Given the description of an element on the screen output the (x, y) to click on. 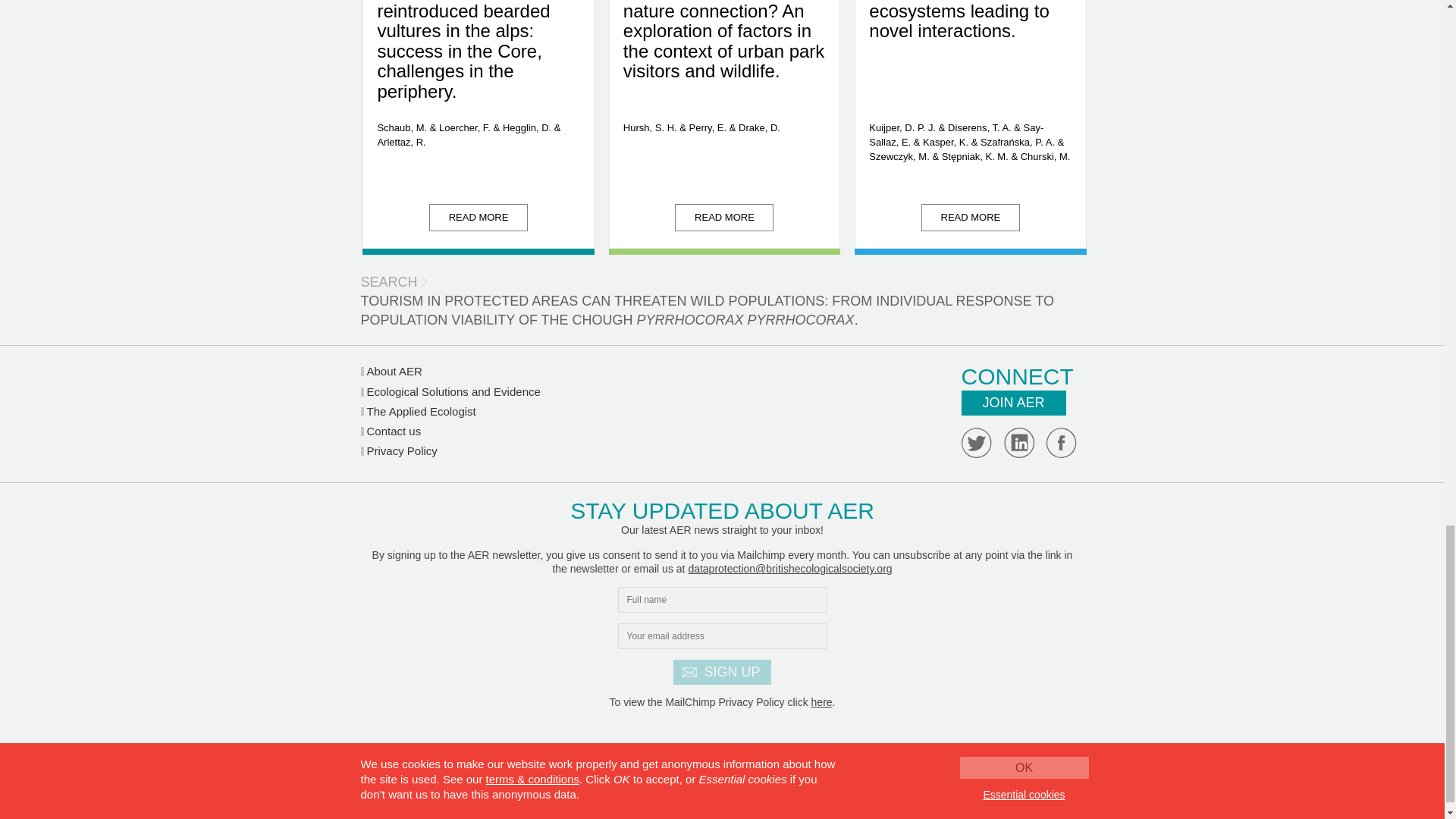
Twitter (975, 442)
SIGN UP (721, 671)
LinkedIn (1018, 442)
Facebook (1061, 442)
